Given the description of an element on the screen output the (x, y) to click on. 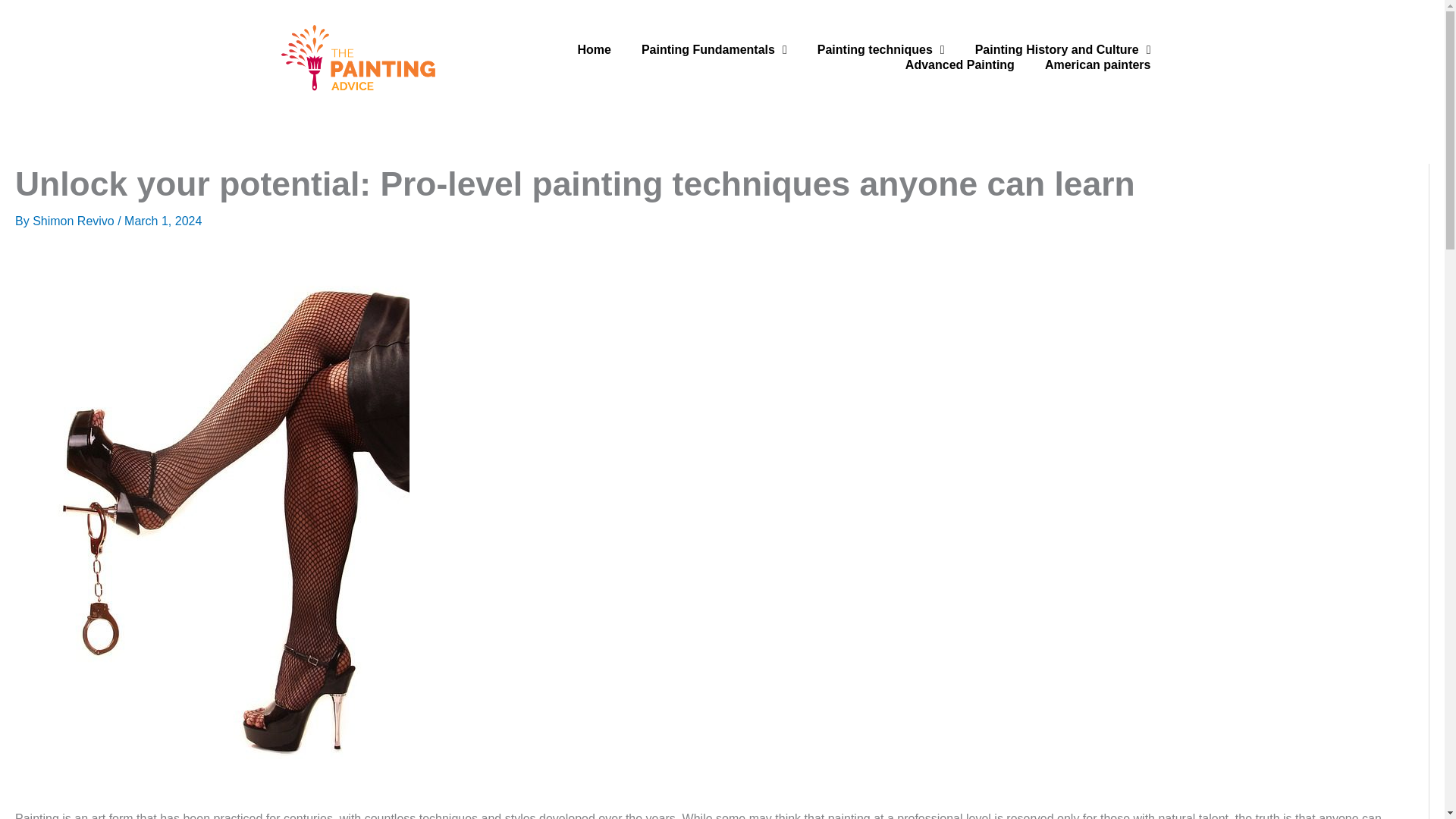
American painters (1097, 64)
View all posts by Shimon Revivo (74, 220)
Painting History and Culture (1062, 49)
Shimon Revivo (74, 220)
Advanced Painting (959, 64)
Painting Fundamentals (714, 49)
Home (594, 49)
Painting techniques (880, 49)
